Given the description of an element on the screen output the (x, y) to click on. 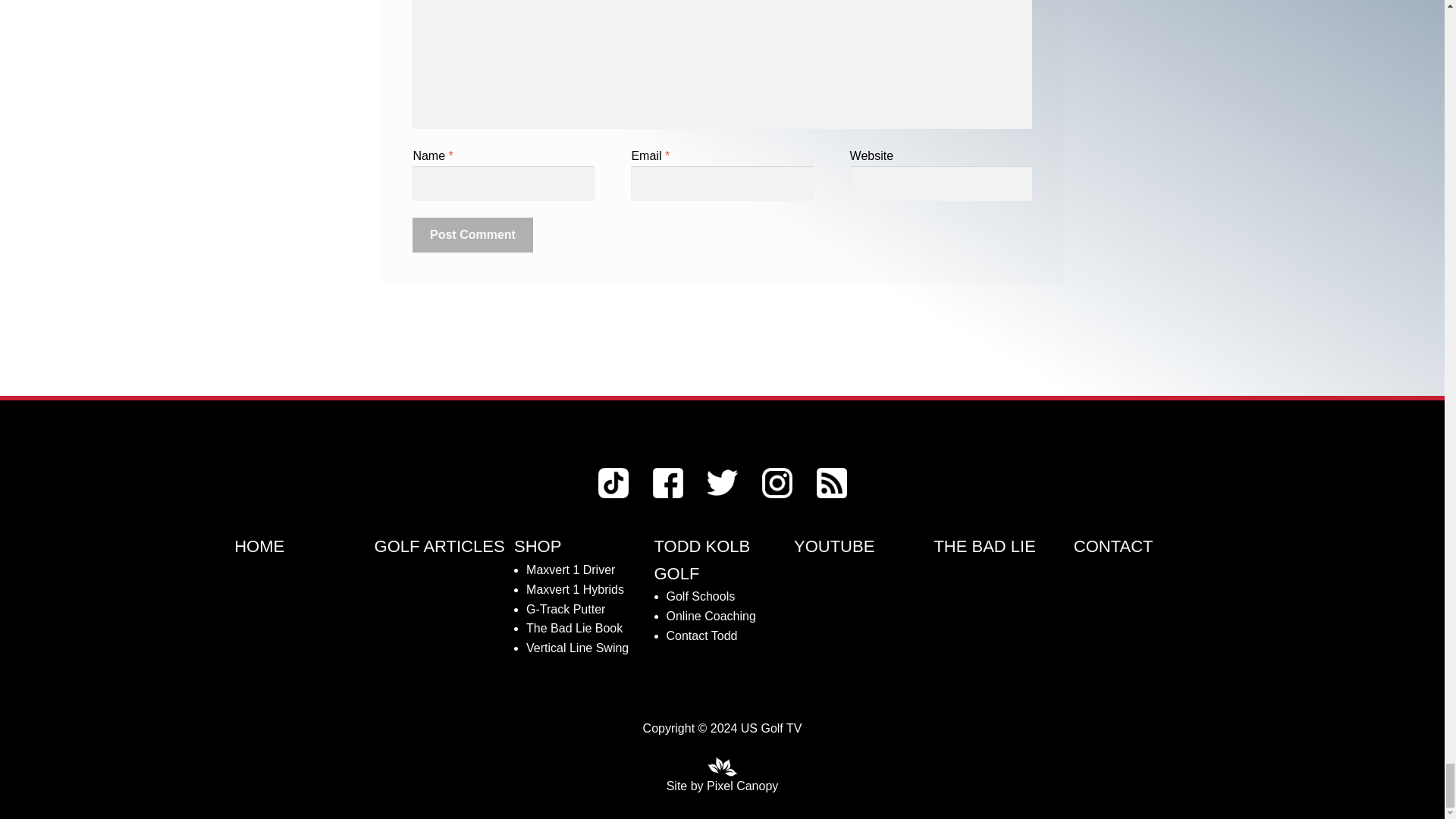
Post Comment (472, 234)
